Given the description of an element on the screen output the (x, y) to click on. 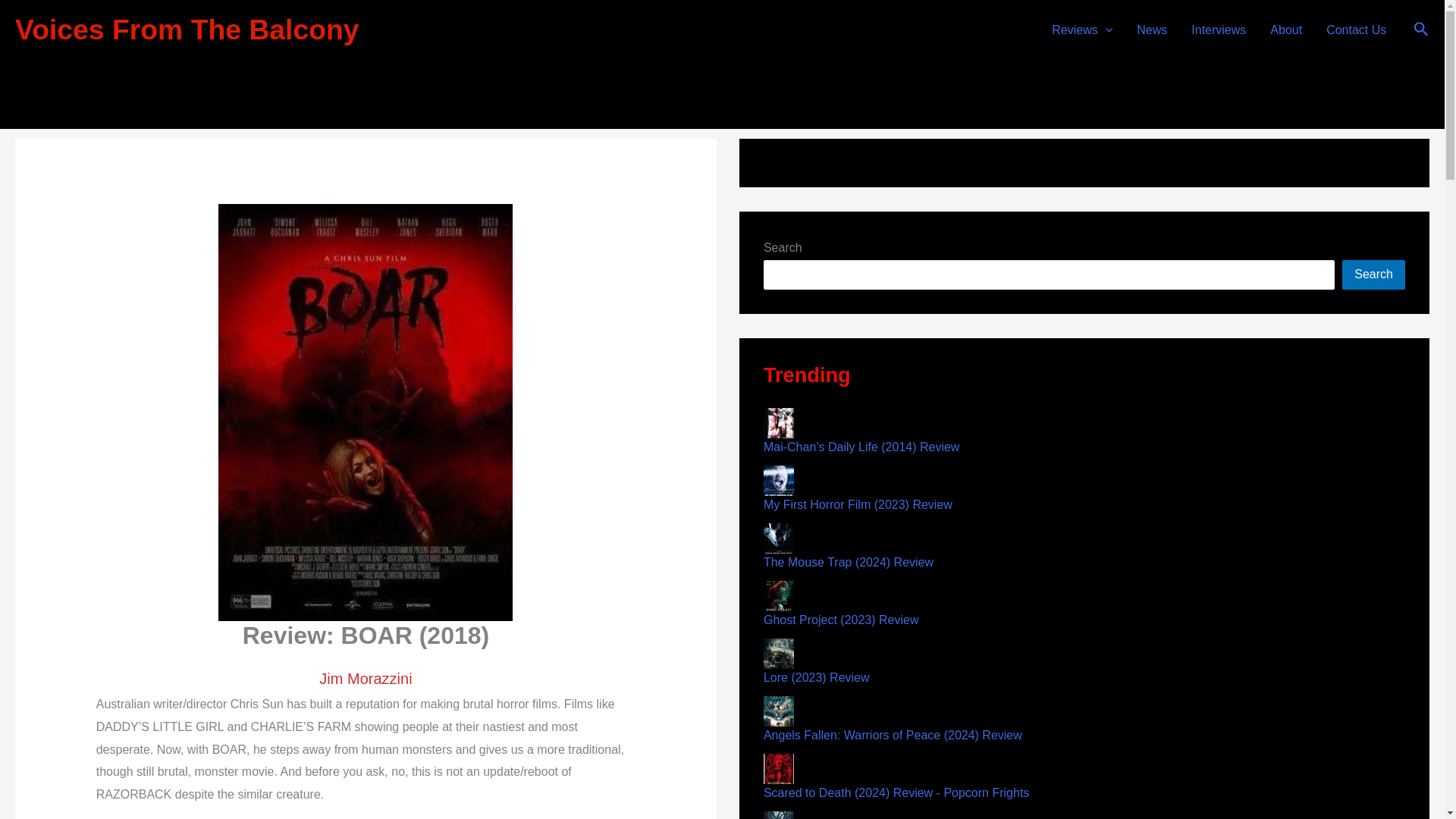
Reviews (1081, 30)
View all posts by Jim Morazzini (731, 44)
About (1285, 30)
News (1151, 30)
Interviews (1218, 30)
Jim Morazzini (731, 44)
Contact Us (1355, 30)
Voices From The Balcony (186, 29)
